Given the description of an element on the screen output the (x, y) to click on. 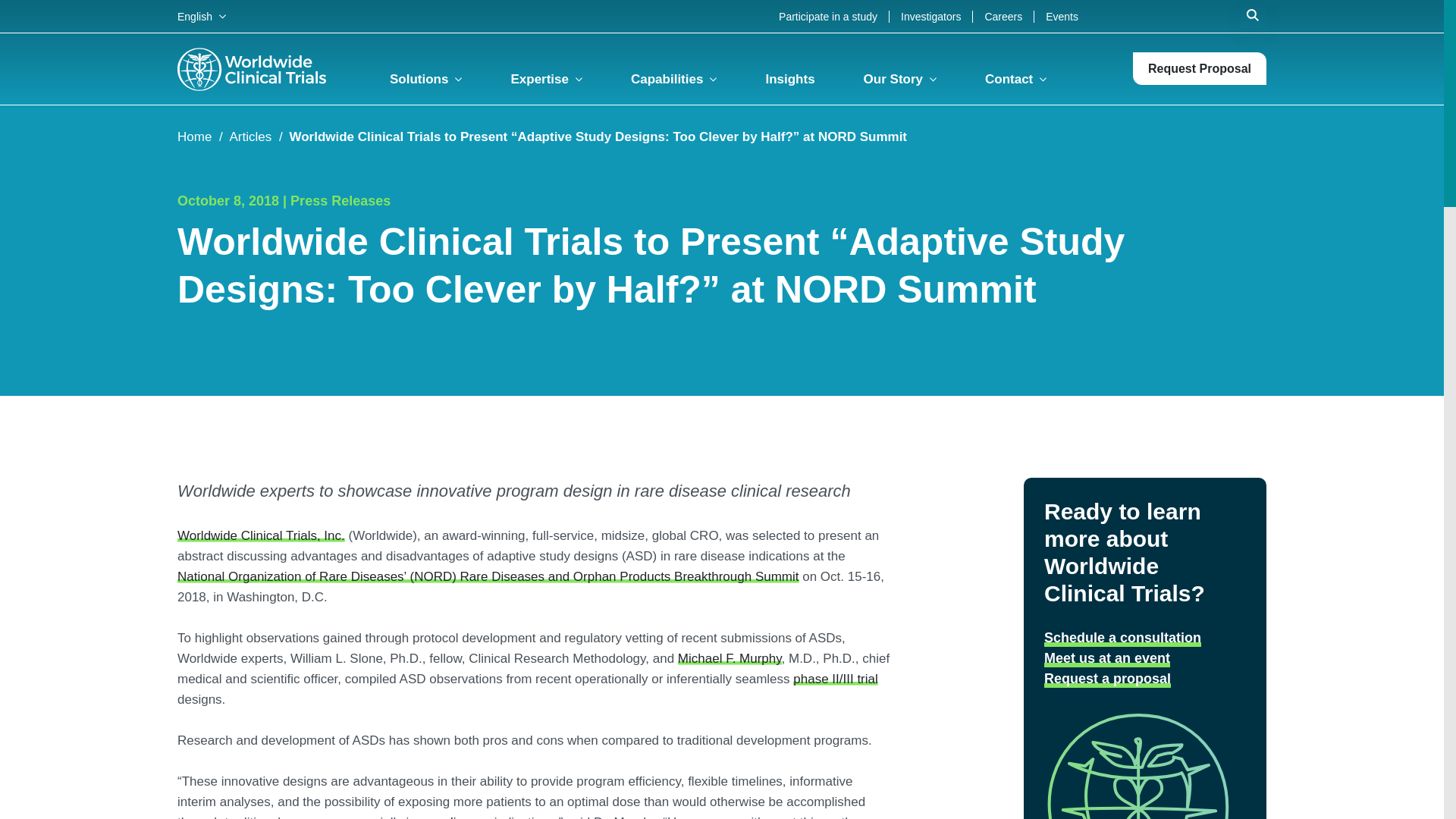
Careers (1002, 16)
Events (1055, 16)
Participate in a study (828, 16)
Investigators (930, 16)
English (201, 16)
